Given the description of an element on the screen output the (x, y) to click on. 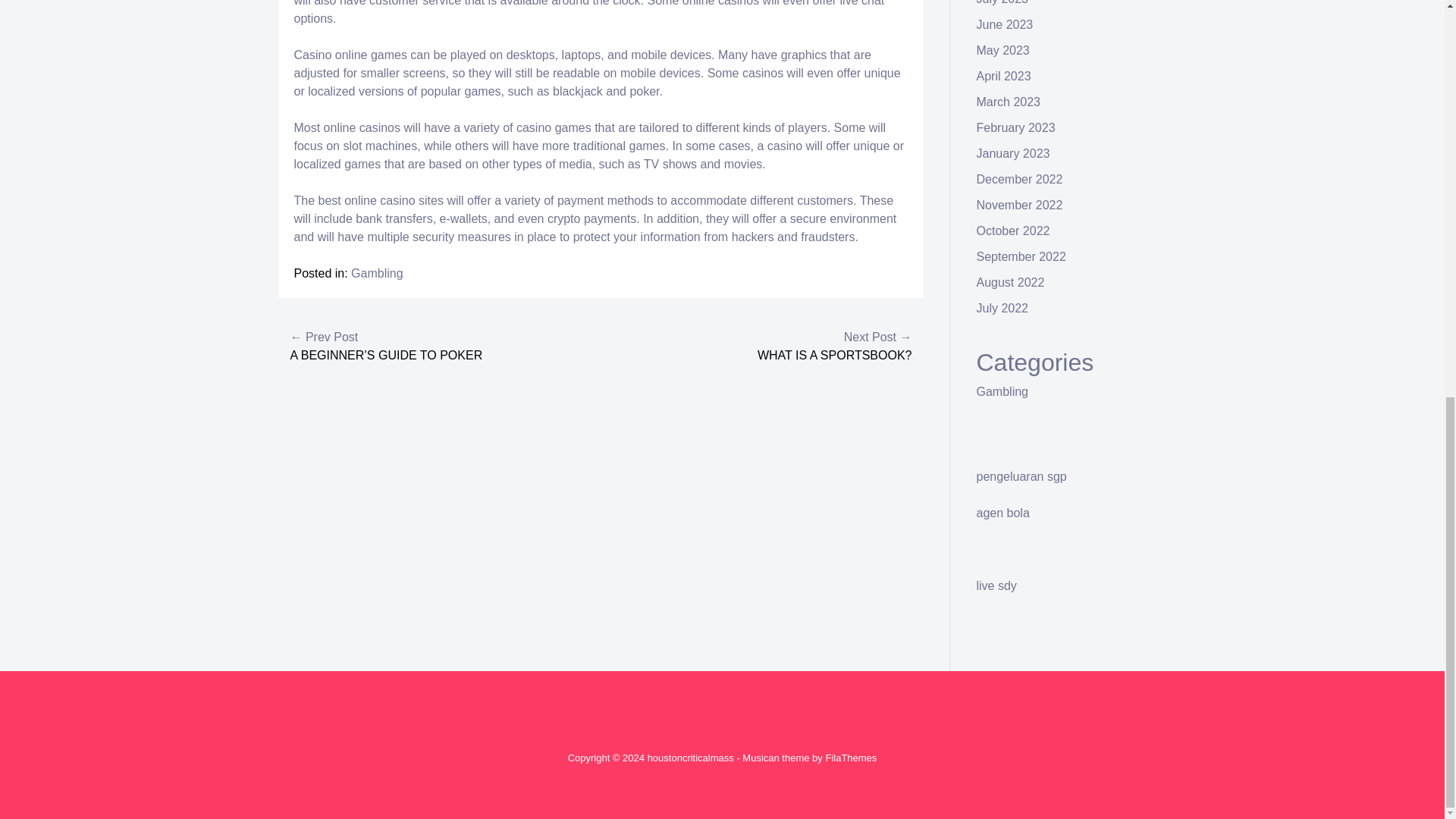
July 2022 (1002, 308)
April 2023 (1003, 75)
houstoncriticalmass (690, 757)
February 2023 (1015, 127)
March 2023 (1008, 101)
January 2023 (1012, 153)
July 2023 (1002, 2)
May 2023 (1002, 50)
Gambling (376, 273)
Gambling (1001, 391)
October 2022 (1012, 230)
August 2022 (1010, 282)
September 2022 (1020, 256)
November 2022 (1019, 205)
December 2022 (1019, 178)
